Given the description of an element on the screen output the (x, y) to click on. 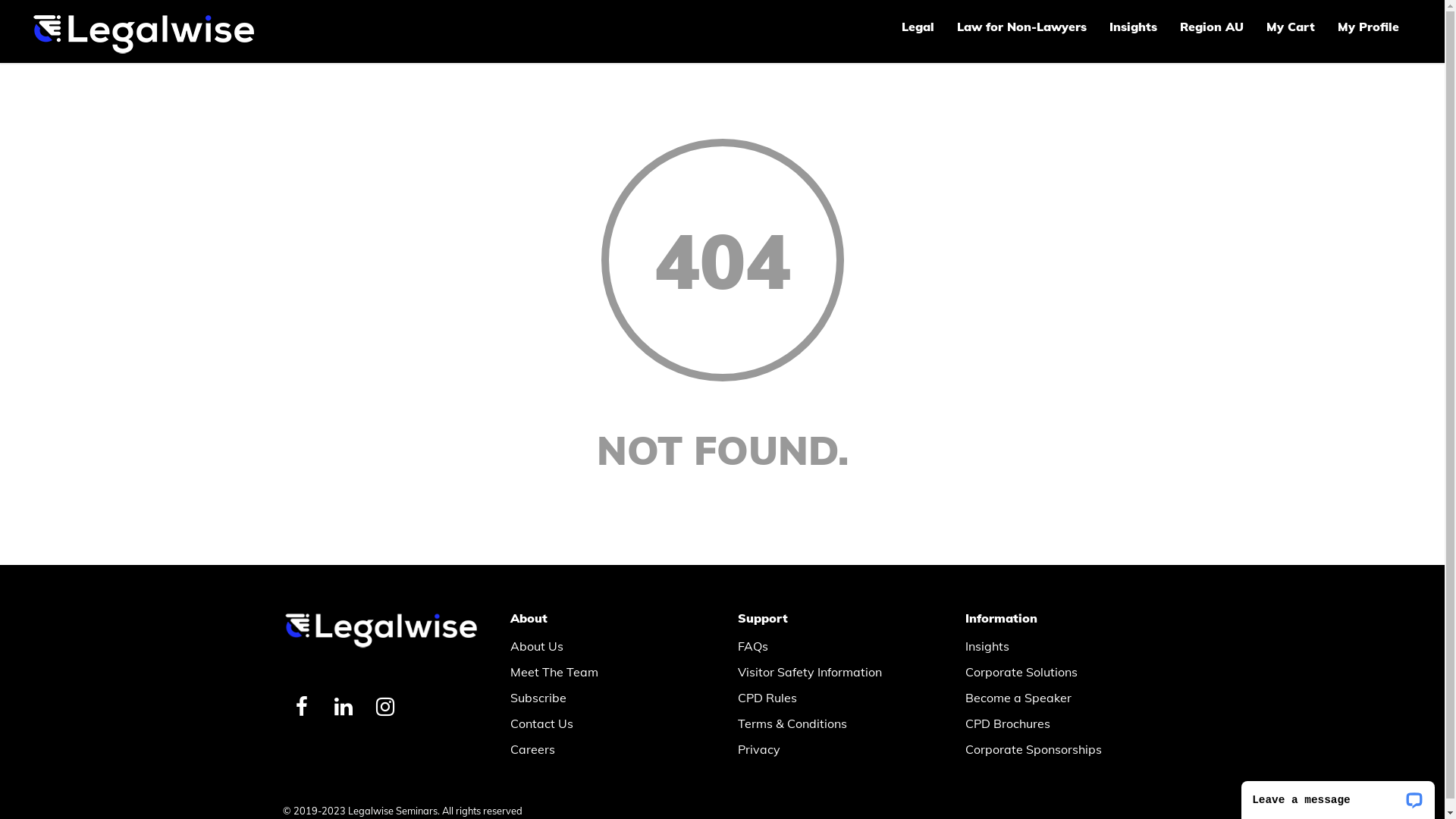
Subscribe Element type: text (604, 697)
Become a Speaker Element type: text (1059, 697)
Visitor Safety Information Element type: text (831, 671)
Terms & Conditions Element type: text (831, 723)
Careers Element type: text (604, 749)
Meet The Team Element type: text (604, 671)
CPD Brochures Element type: text (1059, 723)
Region AU Element type: text (1211, 26)
CPD Rules Element type: text (831, 697)
FAQs Element type: text (831, 646)
Contact Us Element type: text (604, 723)
Insights Element type: text (1133, 26)
Insights Element type: text (1059, 646)
My Profile Element type: text (1368, 26)
Legal Element type: text (917, 26)
My Cart Element type: text (1290, 26)
Corporate Solutions Element type: text (1059, 671)
Privacy Element type: text (831, 749)
About Us Element type: text (604, 646)
Corporate Sponsorships Element type: text (1059, 749)
Law for Non-Lawyers Element type: text (1021, 26)
